Given the description of an element on the screen output the (x, y) to click on. 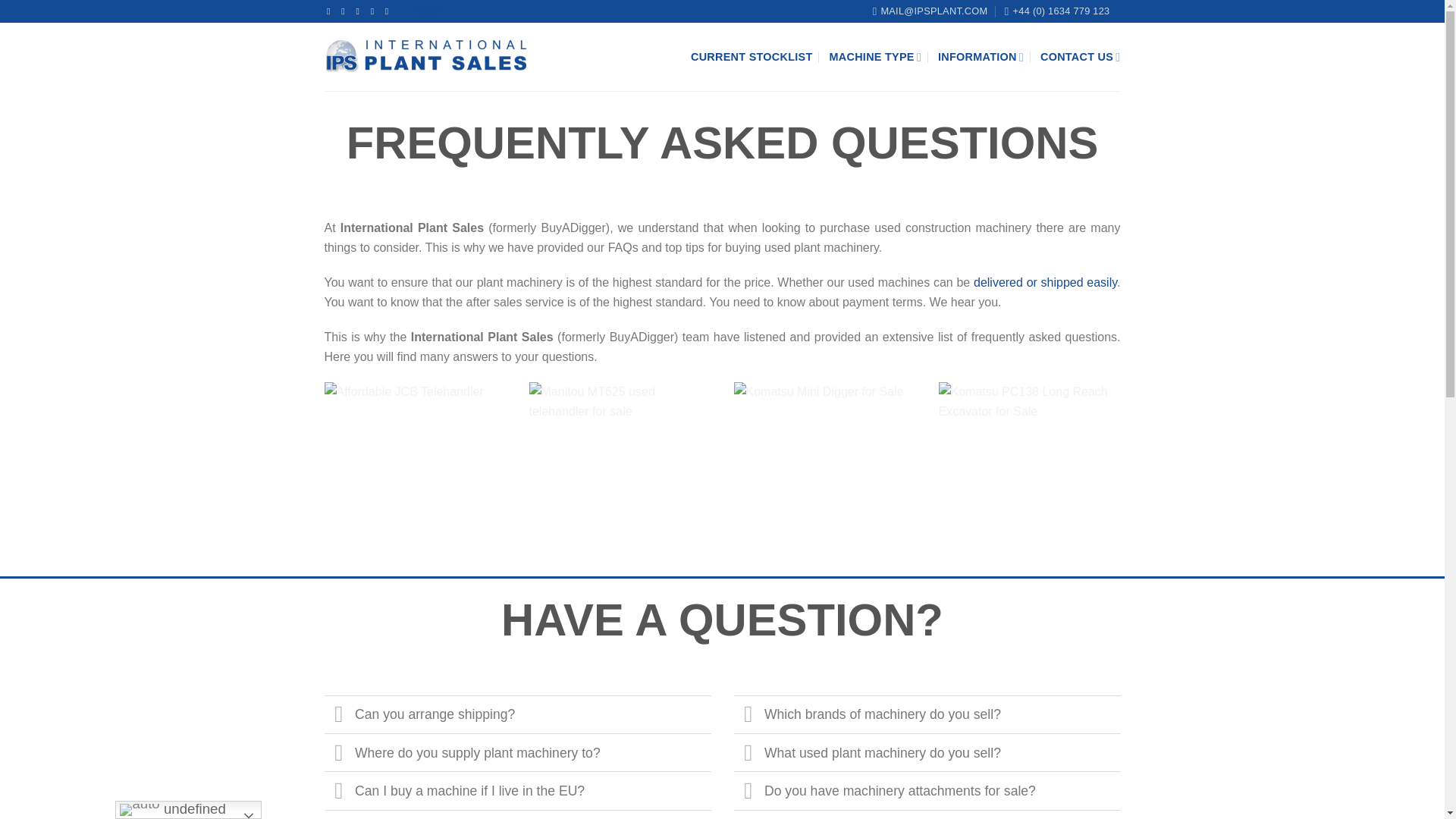
undefined (188, 809)
Trustpilot (425, 10)
